Given the description of an element on the screen output the (x, y) to click on. 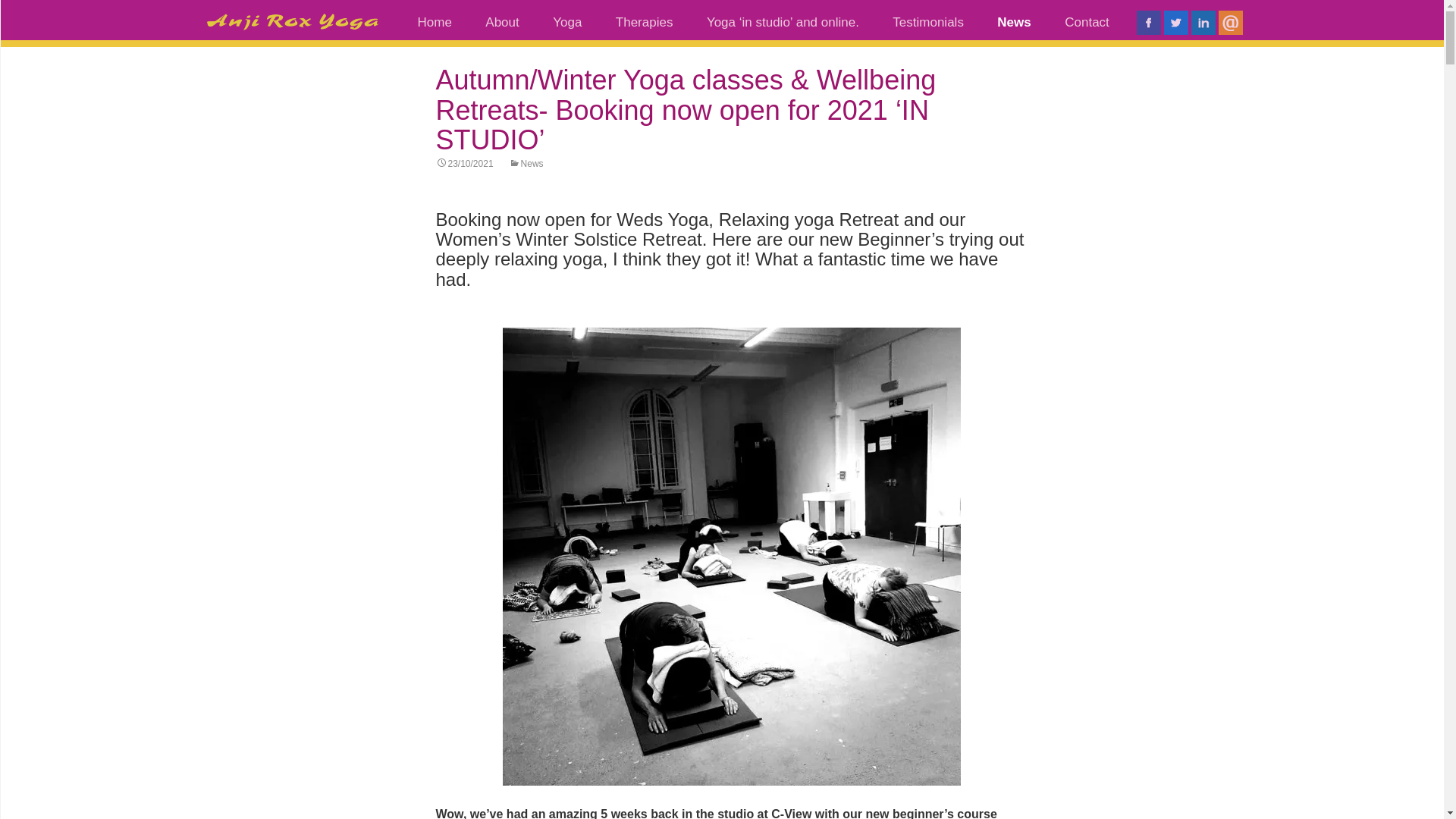
Privacy Policy (1125, 54)
Yoga (566, 22)
News (525, 163)
Weekly Classes (767, 54)
Contact (1086, 22)
News (1013, 22)
About (502, 22)
Anji Rox Yoga (293, 8)
Testimonials (927, 22)
Therapies (643, 22)
Home (433, 22)
Reflexology (675, 54)
